Given the description of an element on the screen output the (x, y) to click on. 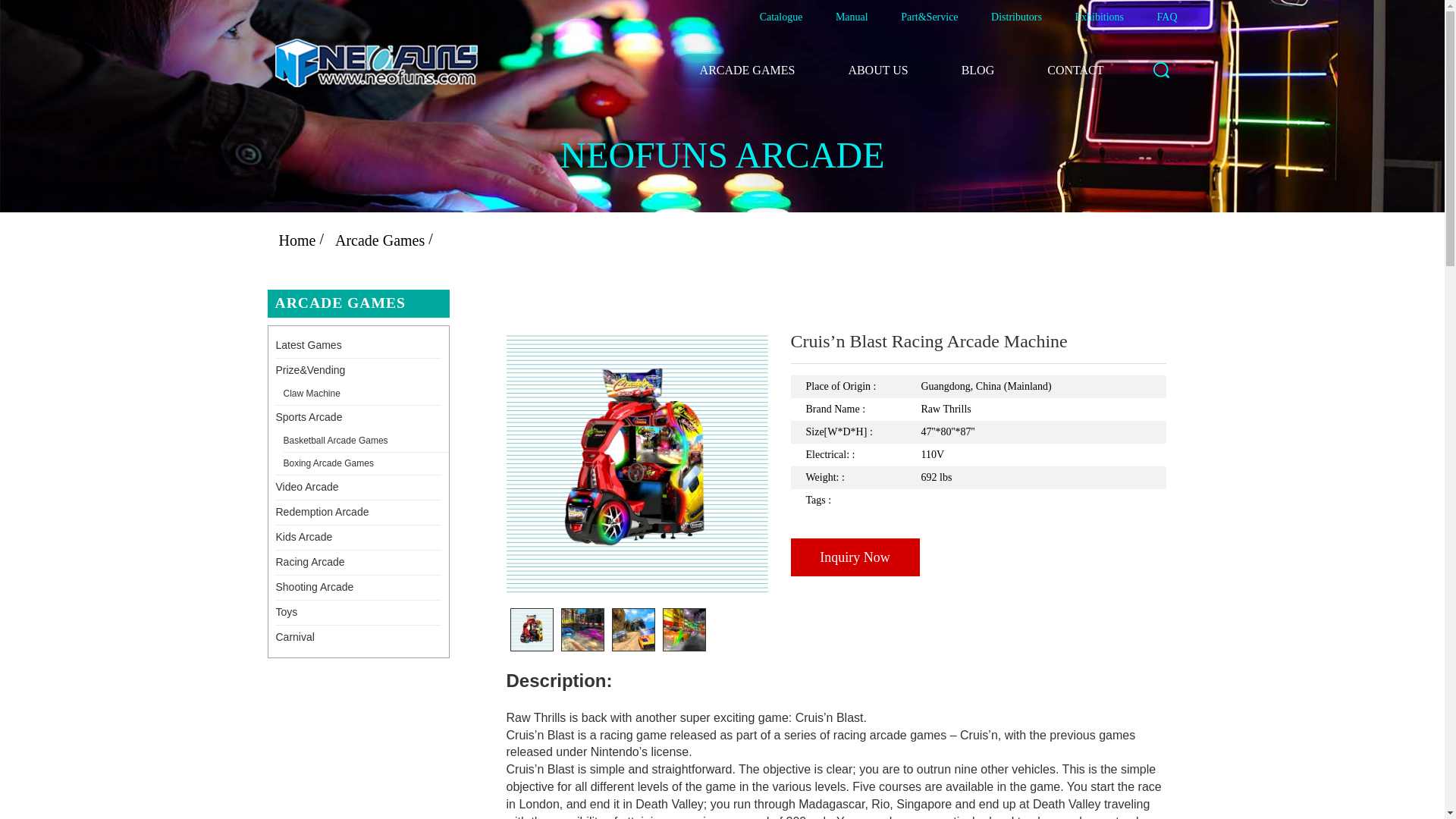
Home (297, 240)
Brand Name (863, 409)
Exhibitions (1099, 17)
Raw Thrills (1043, 409)
Latest Games (358, 345)
tag (863, 499)
Weight: (863, 477)
Place of Origin (863, 386)
Manual (851, 17)
Sports Arcade (358, 417)
